Given the description of an element on the screen output the (x, y) to click on. 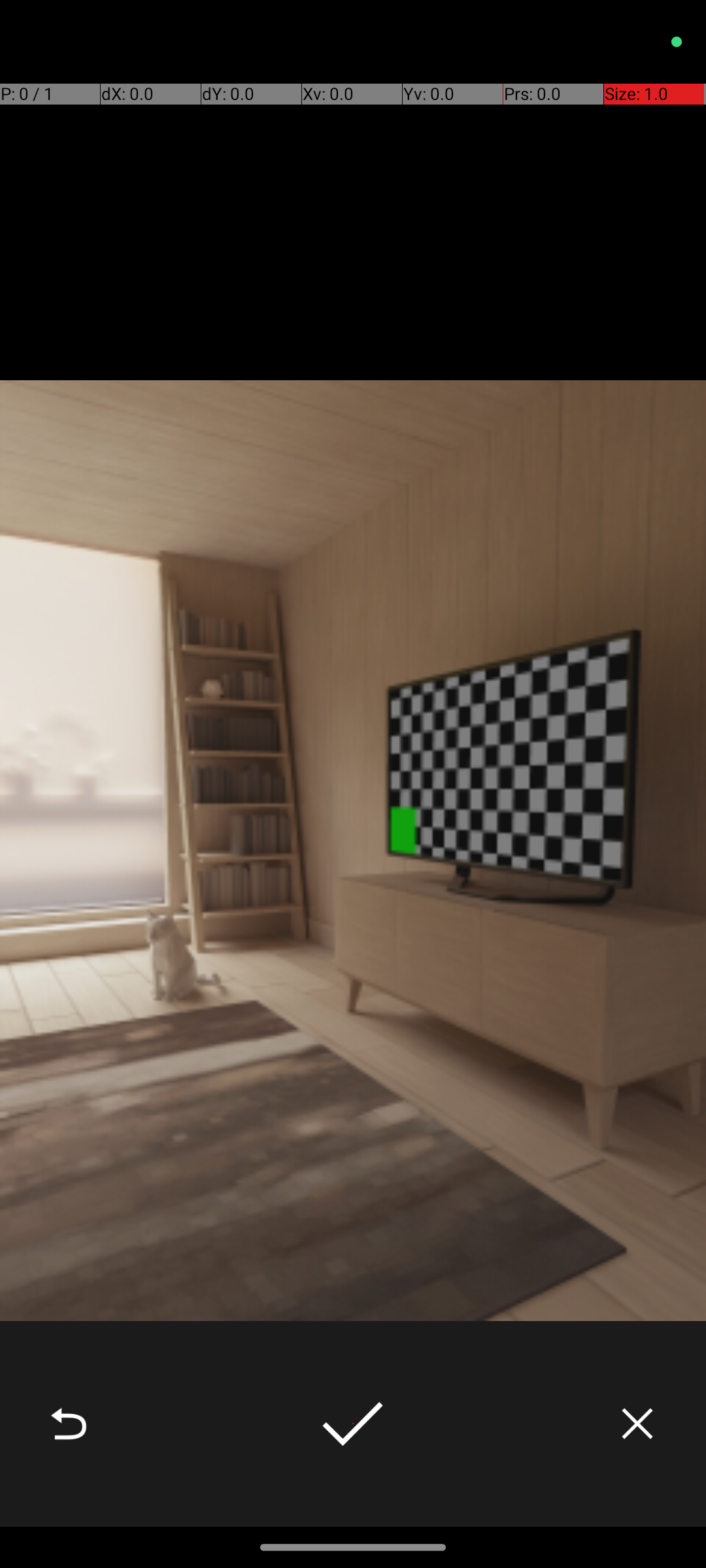
Retake Element type: android.widget.ImageButton (68, 1423)
